Given the description of an element on the screen output the (x, y) to click on. 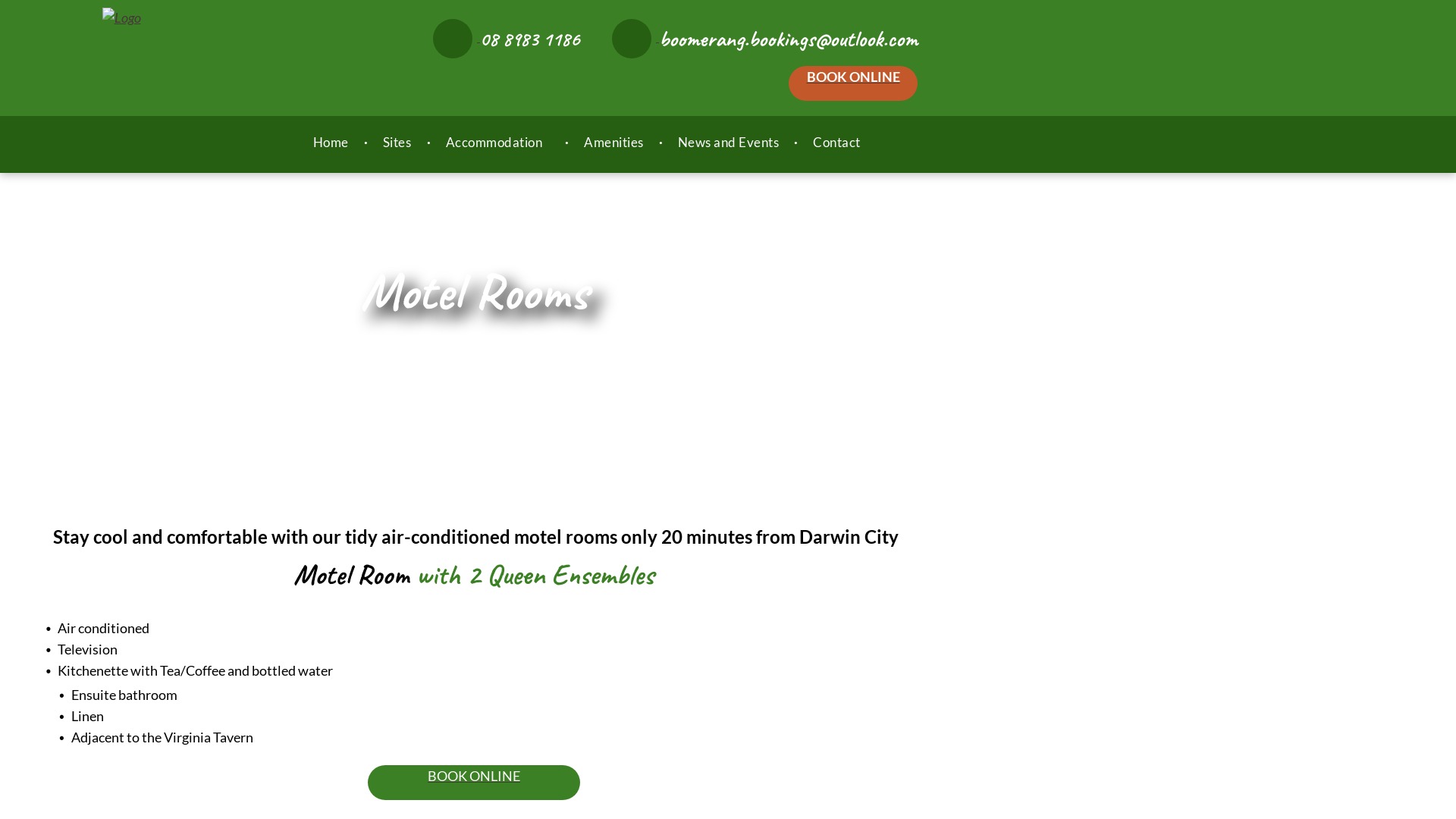
Amenities Element type: text (613, 142)
Contact Element type: text (836, 142)
BOOK ONLINE Element type: text (473, 782)
Home Element type: text (331, 142)
08 8983 1186 Element type: text (506, 38)
Sites Element type: text (396, 142)
boomerang.bookings@outlook.com Element type: text (764, 38)
News and Events Element type: text (728, 142)
Accommodation Element type: text (497, 142)
BOOK ONLINE Element type: text (852, 82)
